Given the description of an element on the screen output the (x, y) to click on. 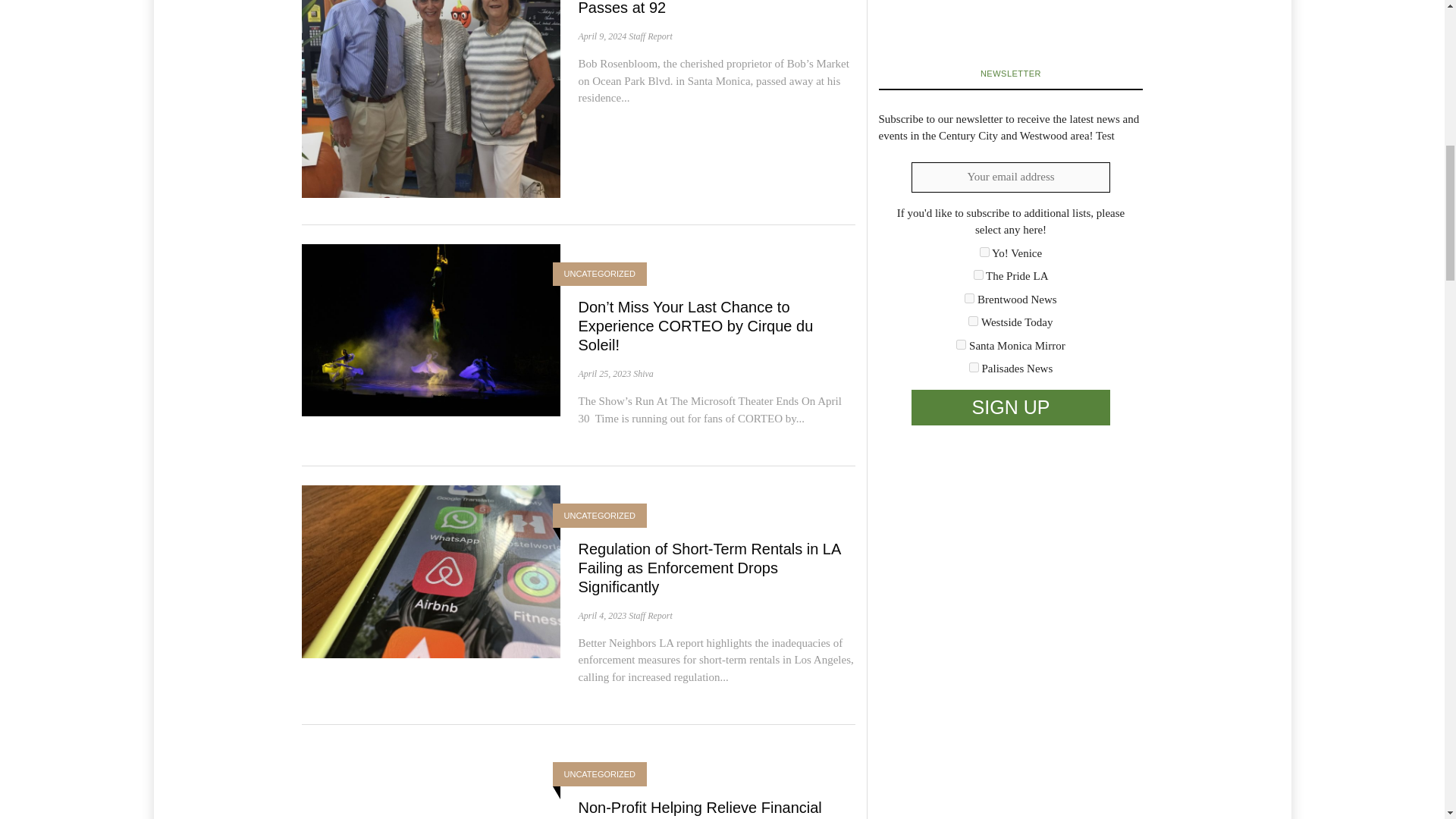
Sign up (1010, 407)
Posts by Staff Report (650, 615)
a3d1b6d535 (973, 320)
Posts by Shiva (643, 373)
2c616d28b5 (984, 252)
d0b5733862 (961, 344)
ec7d882848 (973, 367)
33f79e7e4d (979, 275)
Posts by Staff Report (650, 36)
382281a661 (968, 298)
